Given the description of an element on the screen output the (x, y) to click on. 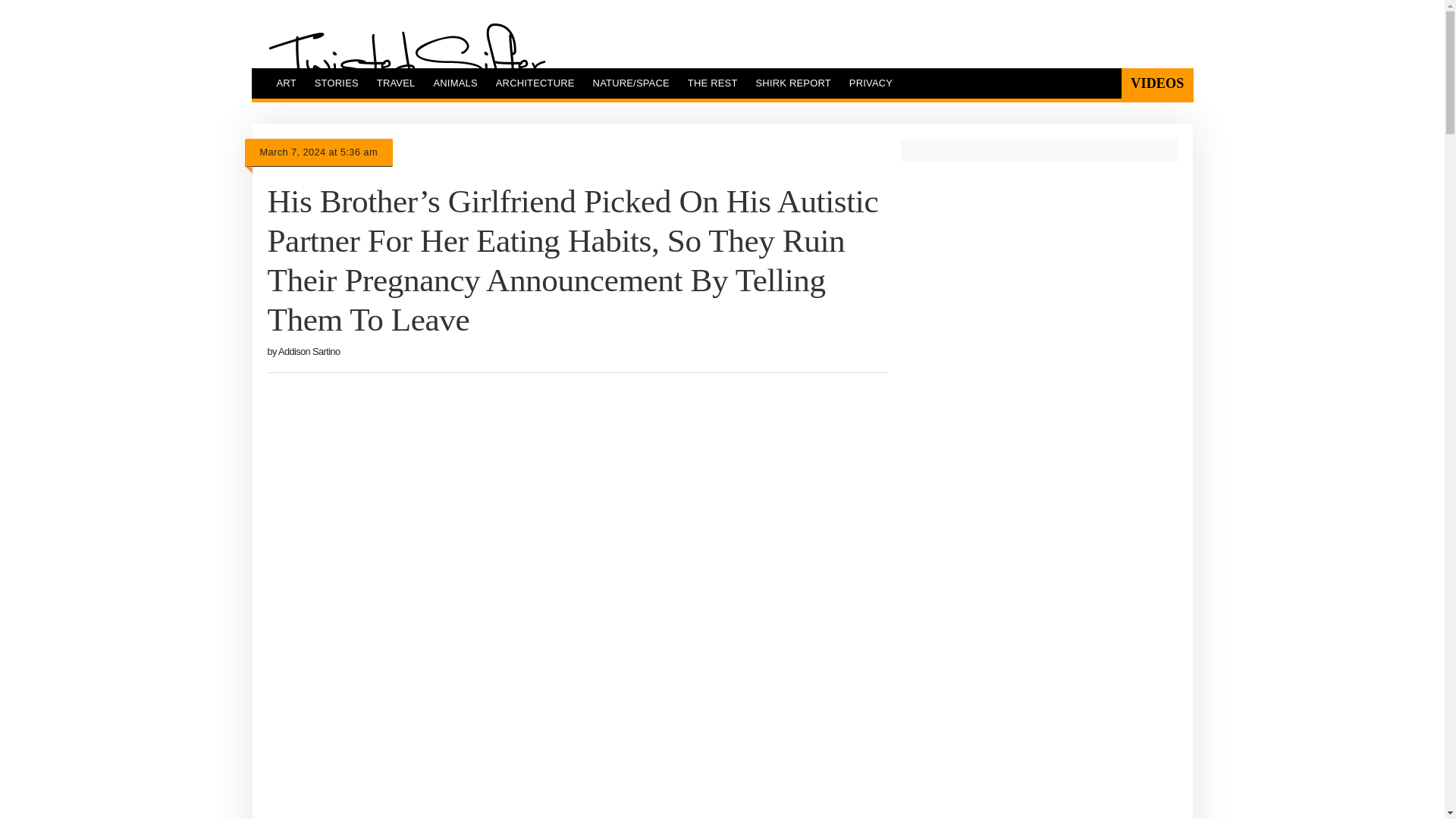
ARCHITECTURE (534, 82)
TRAVEL (396, 82)
STORIES (336, 82)
PRIVACY (870, 82)
ART (285, 82)
Home (406, 59)
ANIMALS (454, 82)
VIDEOS (1156, 82)
THE REST (712, 82)
SHIRK REPORT (793, 82)
